Given the description of an element on the screen output the (x, y) to click on. 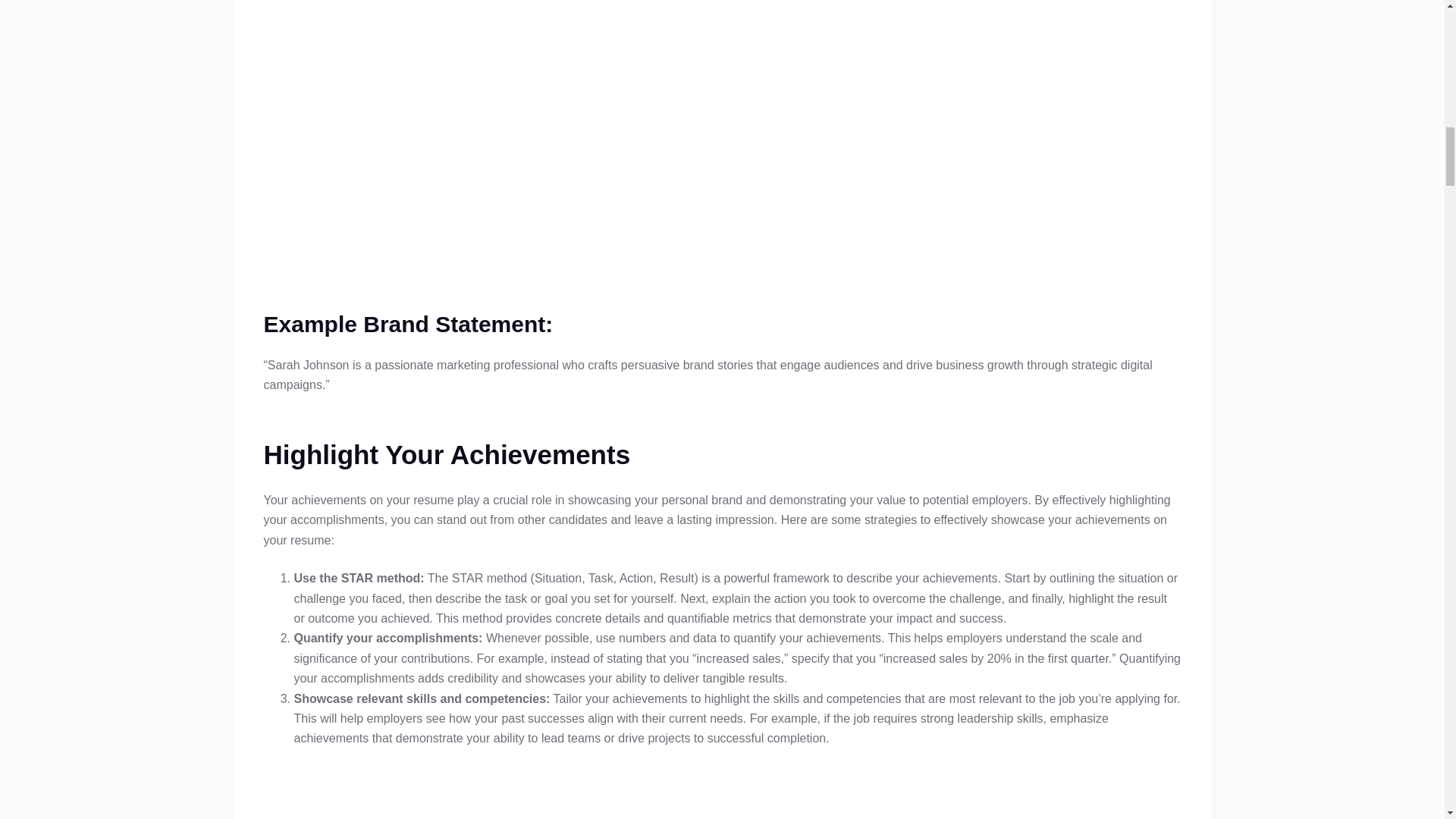
resume achievements examples (721, 793)
